Given the description of an element on the screen output the (x, y) to click on. 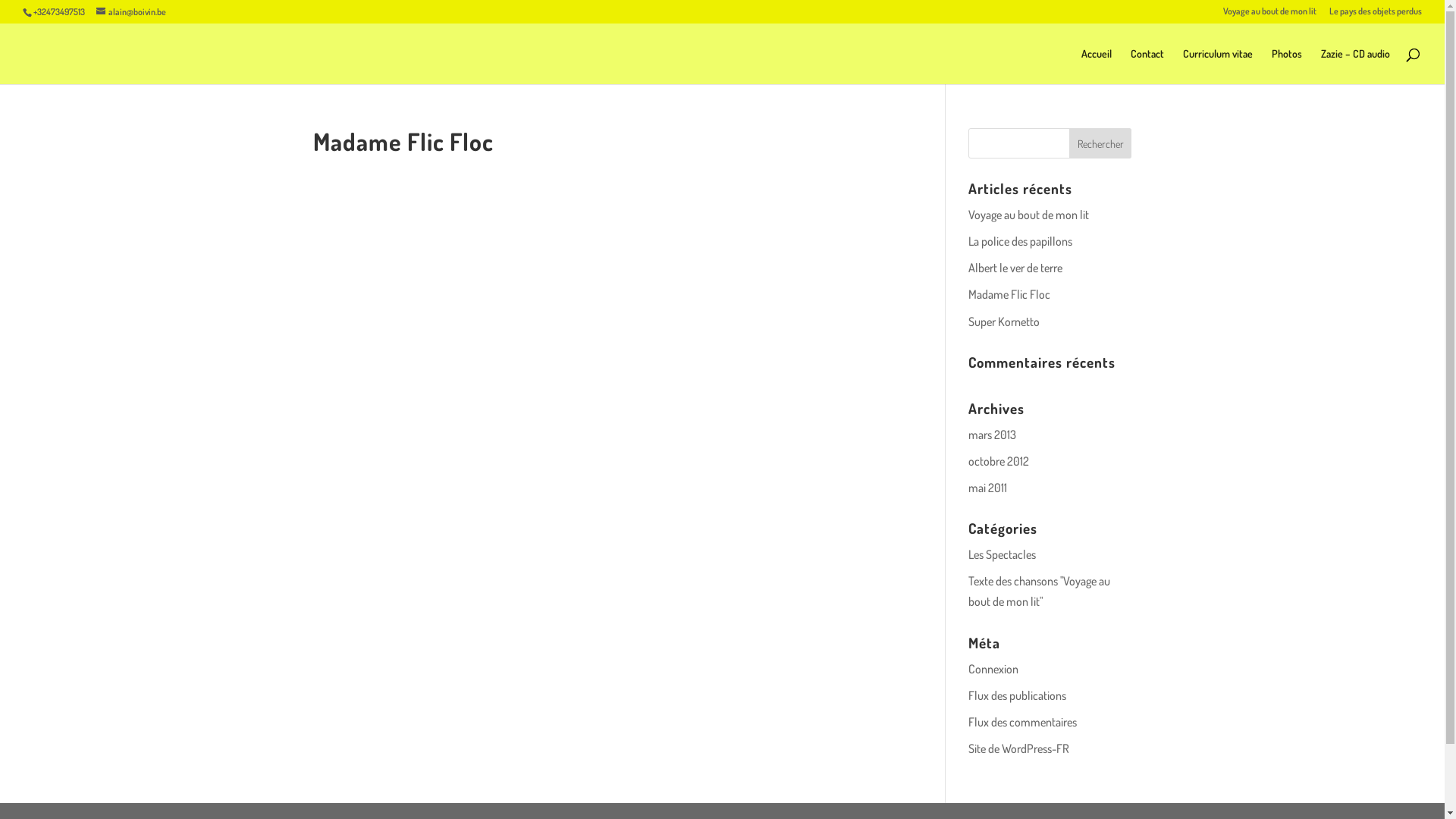
Super Kornetto Element type: text (1003, 321)
Site de WordPress-FR Element type: text (1018, 748)
La police des papillons Element type: text (1020, 240)
Voyage au bout de mon lit Element type: text (1269, 14)
Contact Element type: text (1147, 66)
Curriculum vitae Element type: text (1217, 66)
Le pays des objets perdus Element type: text (1375, 14)
mars 2013 Element type: text (992, 434)
alain@boivin.be Element type: text (131, 11)
Connexion Element type: text (993, 668)
mai 2011 Element type: text (987, 487)
Voyage au bout de mon lit Element type: text (1028, 214)
Photos Element type: text (1286, 66)
Flux des commentaires Element type: text (1022, 721)
Flux des publications Element type: text (1017, 694)
Les Spectacles Element type: text (1001, 553)
Madame Flic Floc Element type: text (1009, 293)
Albert le ver de terre Element type: text (1015, 267)
Texte des chansons "Voyage au bout de mon lit" Element type: text (1039, 590)
octobre 2012 Element type: text (998, 460)
Rechercher Element type: text (1100, 143)
Accueil Element type: text (1096, 66)
